Given the description of an element on the screen output the (x, y) to click on. 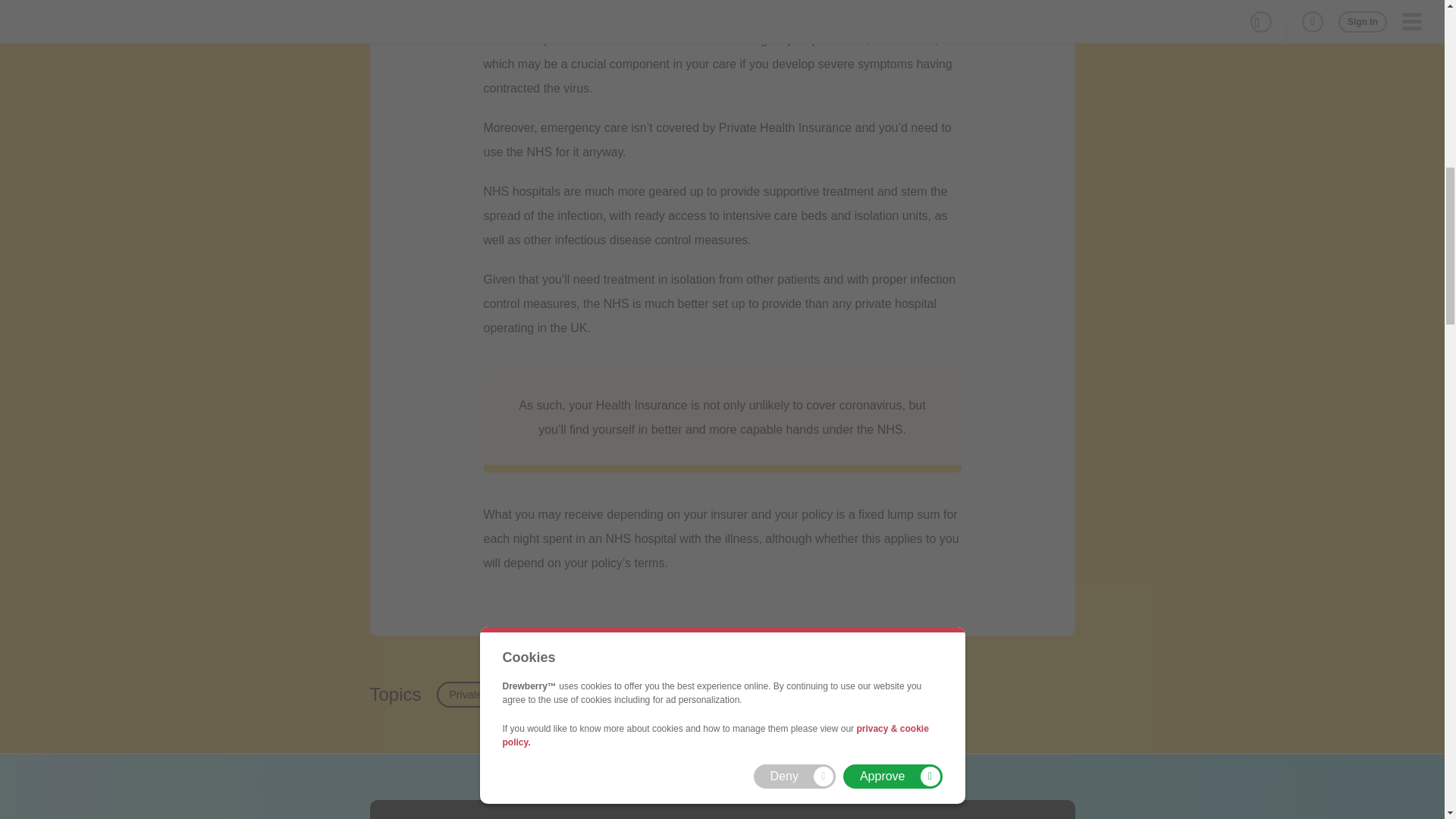
Private Medical Insurance (510, 694)
